Given the description of an element on the screen output the (x, y) to click on. 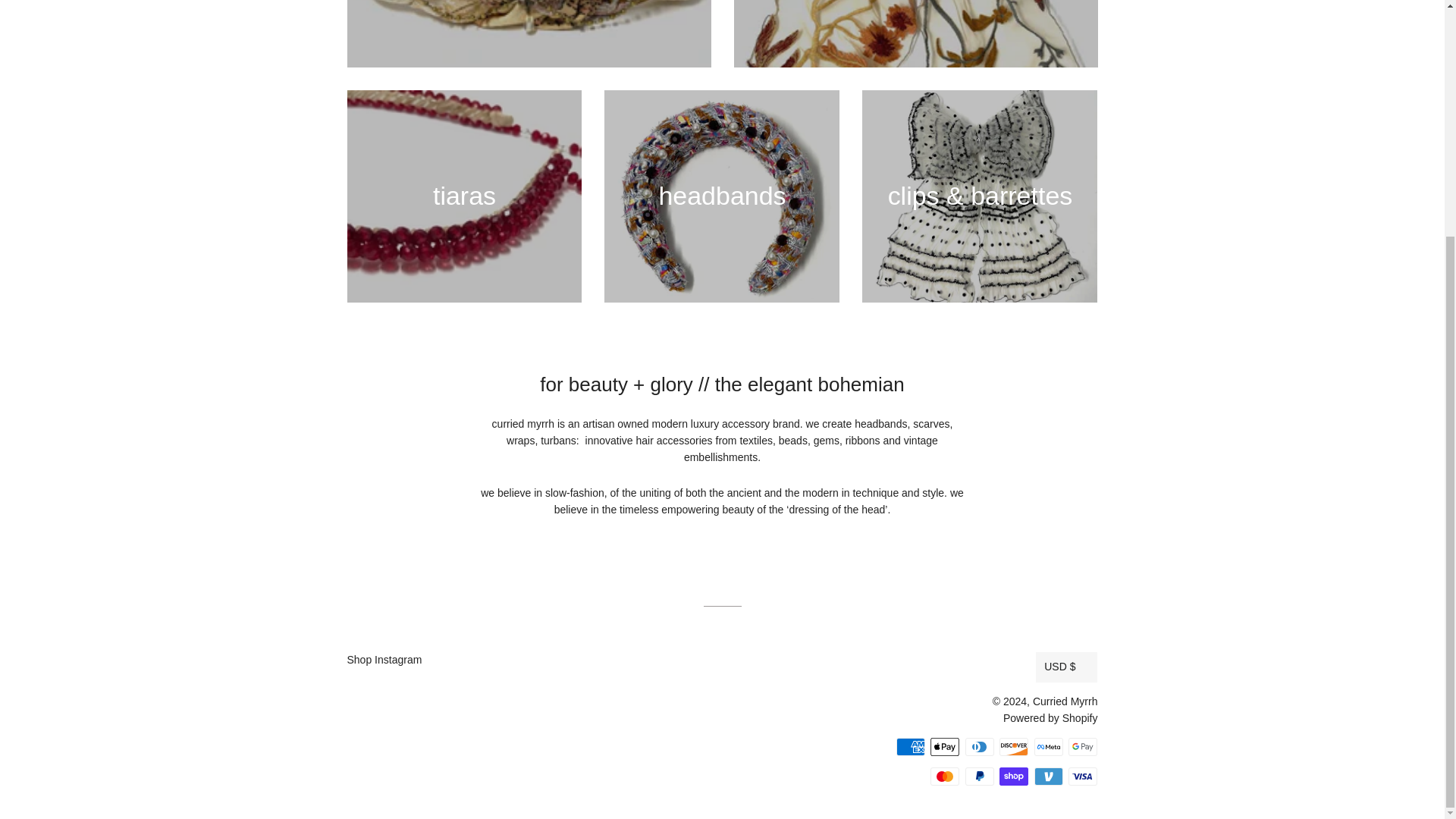
Visa (1082, 776)
PayPal (979, 776)
Apple Pay (944, 746)
Meta Pay (1047, 746)
Mastercard (944, 776)
Shop Pay (1012, 776)
headbands (722, 196)
American Express (910, 746)
Shop Instagram (384, 659)
Google Pay (1082, 746)
